Given the description of an element on the screen output the (x, y) to click on. 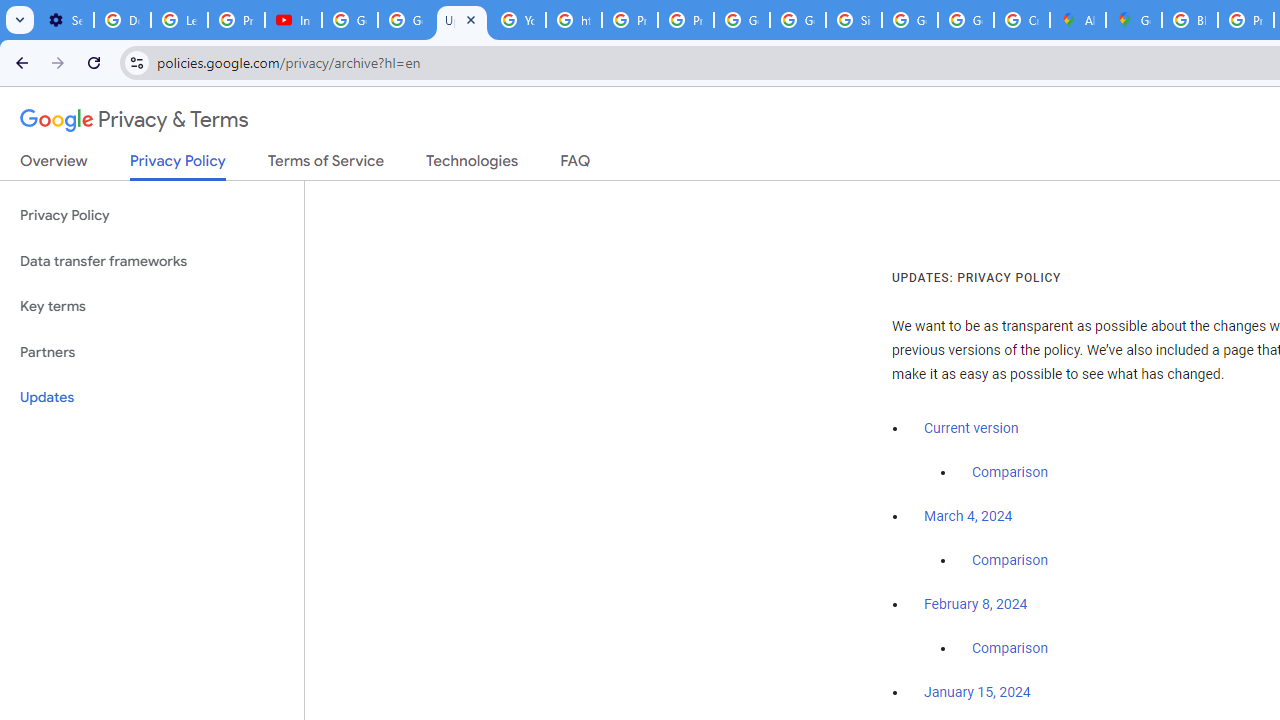
Current version (971, 428)
Privacy Help Center - Policies Help (629, 20)
Introduction | Google Privacy Policy - YouTube (293, 20)
Sign in - Google Accounts (853, 20)
Delete photos & videos - Computer - Google Photos Help (122, 20)
Google Account Help (349, 20)
https://scholar.google.com/ (573, 20)
YouTube (518, 20)
